Given the description of an element on the screen output the (x, y) to click on. 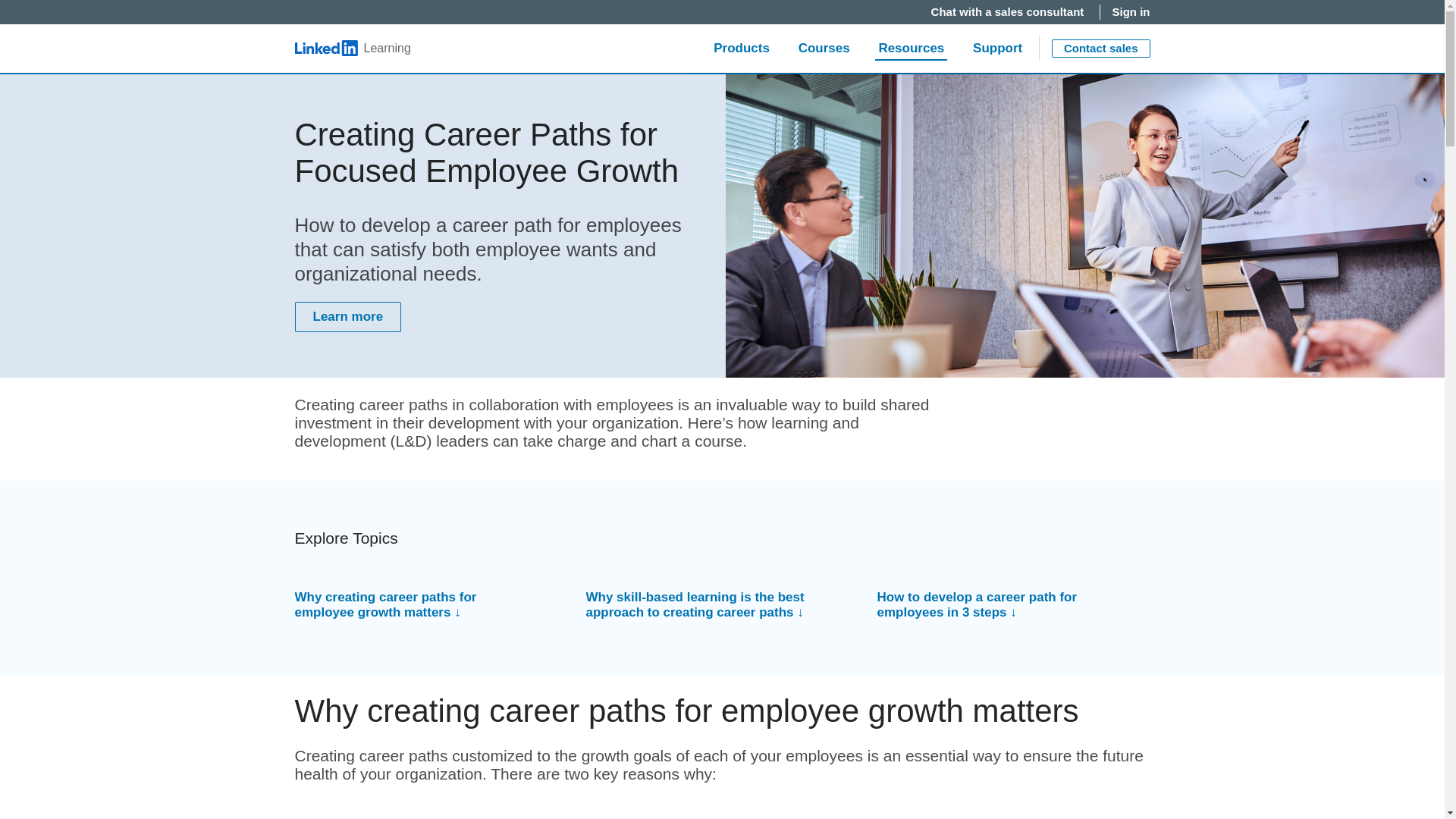
Resources (911, 48)
Courses (823, 48)
Chat with a sales consultant (1009, 11)
Contact sales (1100, 48)
Courses (823, 48)
Chat with a sales consultant (1009, 11)
Products (741, 48)
Contact sales (1100, 48)
Resources (911, 48)
Support (996, 48)
